Given the description of an element on the screen output the (x, y) to click on. 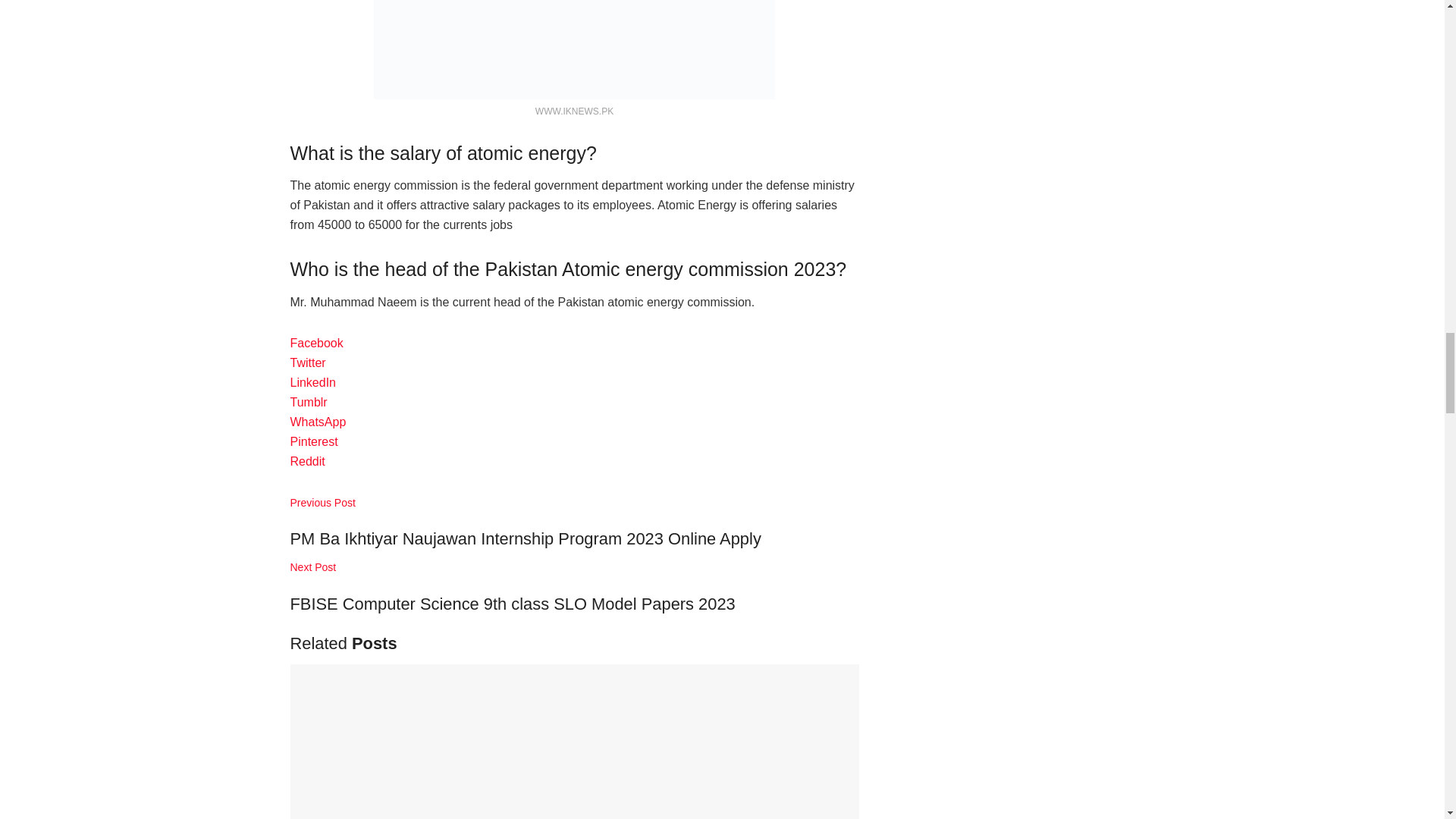
Click to share on Tumblr (307, 401)
Click to share on WhatsApp (317, 421)
Click to share on Facebook (315, 342)
Click to share on Reddit (306, 461)
Click to share on LinkedIn (312, 382)
Click to share on Pinterest (313, 440)
Click to share on Twitter (306, 362)
Atomic Energy Commission jobs online apply 2023 4 (574, 49)
